Given the description of an element on the screen output the (x, y) to click on. 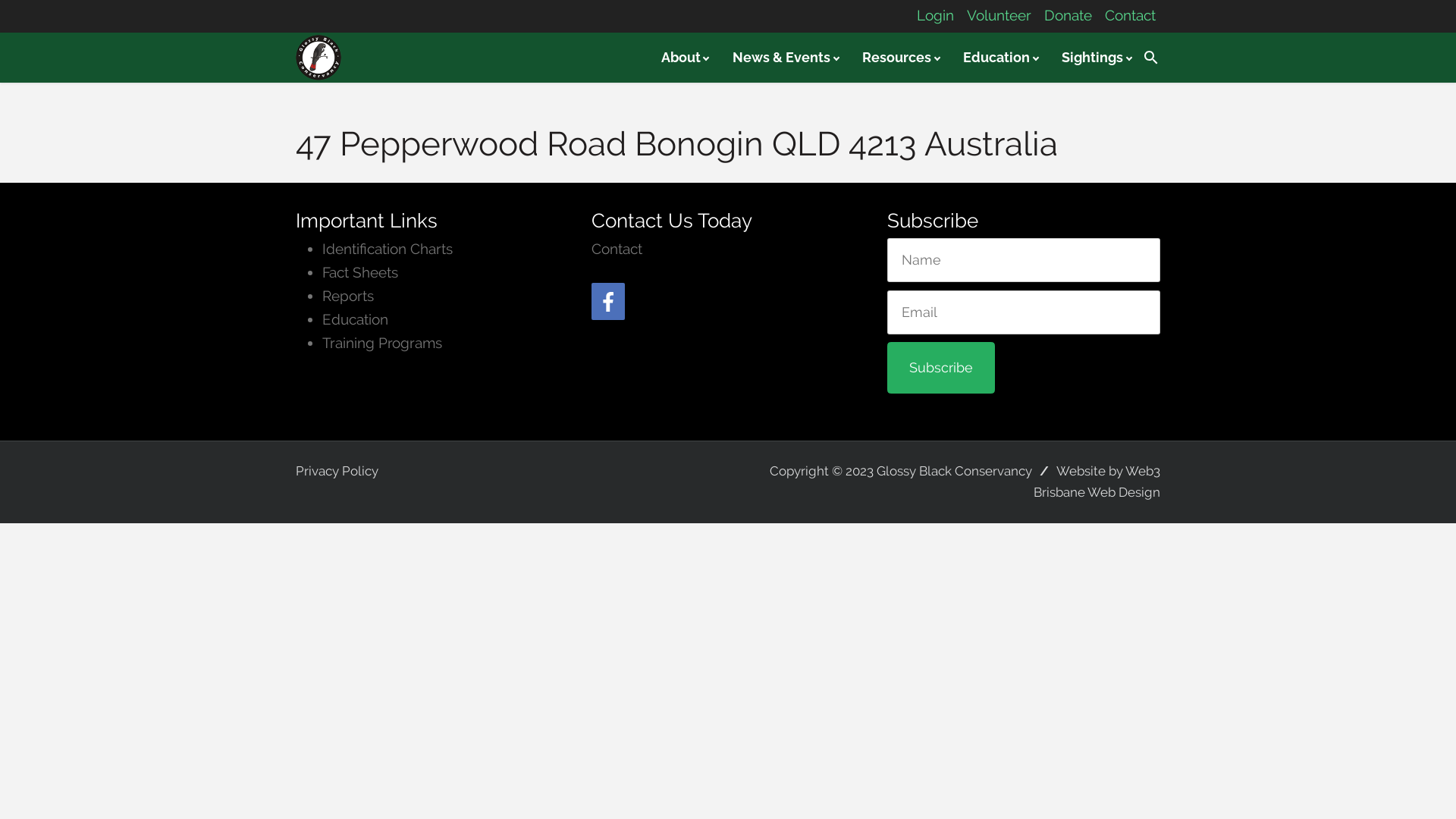
Reports Element type: text (347, 295)
Contact Element type: text (616, 248)
News & Events Element type: text (783, 56)
Privacy Policy Element type: text (336, 470)
Identification Charts Element type: text (387, 248)
Fact Sheets Element type: text (360, 272)
About Element type: text (682, 56)
Search Element type: text (1151, 56)
Education Element type: text (355, 319)
Training Programs Element type: text (382, 342)
Subscribe Element type: text (940, 367)
Donate Element type: text (1068, 15)
Volunteer Element type: text (998, 15)
Login Element type: text (934, 15)
Contact Element type: text (1129, 15)
Facebook Element type: text (607, 301)
Resources Element type: text (898, 56)
Sightings Element type: text (1095, 56)
Web3 Brisbane Web Design Element type: text (1096, 481)
Education Element type: text (999, 56)
